Given the description of an element on the screen output the (x, y) to click on. 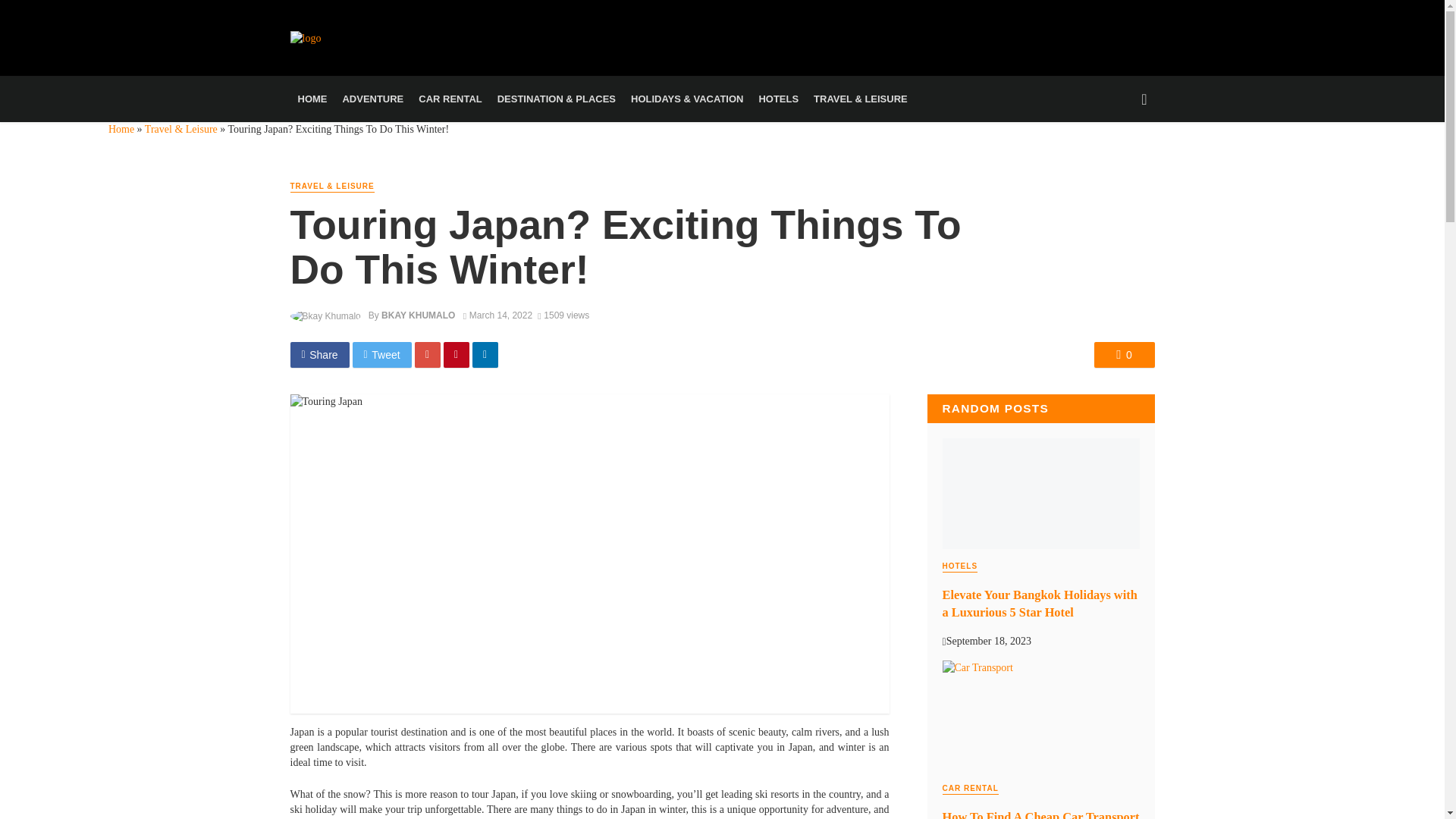
Tweet (382, 354)
Share on Twitter (382, 354)
0 Comments (1123, 354)
Share on Pinterest (456, 354)
ADVENTURE (372, 99)
0 (1123, 354)
Posts by Bkay Khumalo (417, 315)
BKAY KHUMALO (417, 315)
Share on Linkedin (484, 354)
HOME (311, 99)
HOTELS (778, 99)
Share (319, 354)
CAR RENTAL (449, 99)
March 14, 2022 at 4:54 am (497, 315)
